Given the description of an element on the screen output the (x, y) to click on. 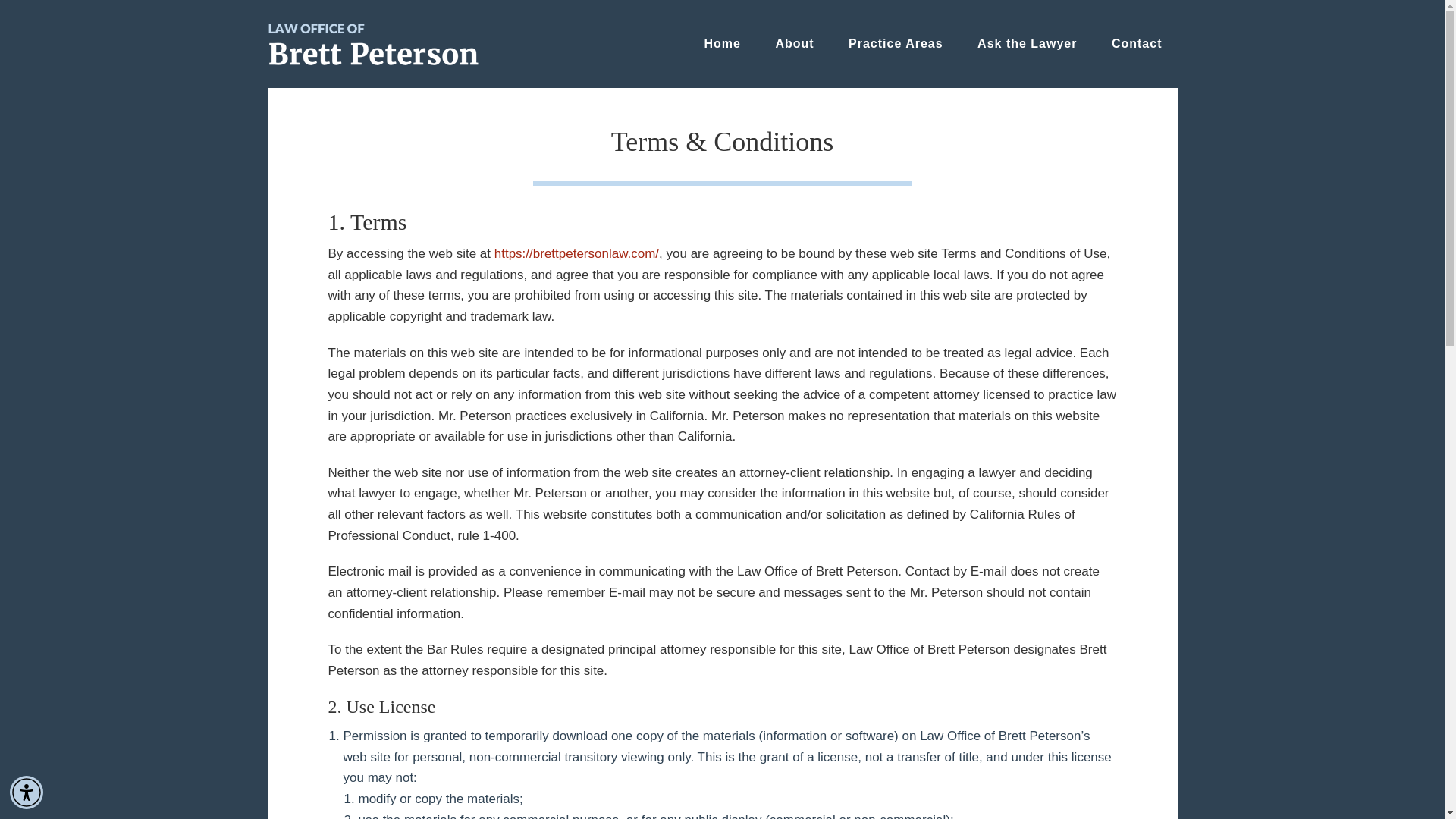
About (794, 43)
Law Office of Brett Peterson (371, 43)
Home (721, 43)
Accessibility Menu (26, 792)
Practice Areas (895, 43)
Contact (1136, 43)
Ask the Lawyer (1027, 43)
